Given the description of an element on the screen output the (x, y) to click on. 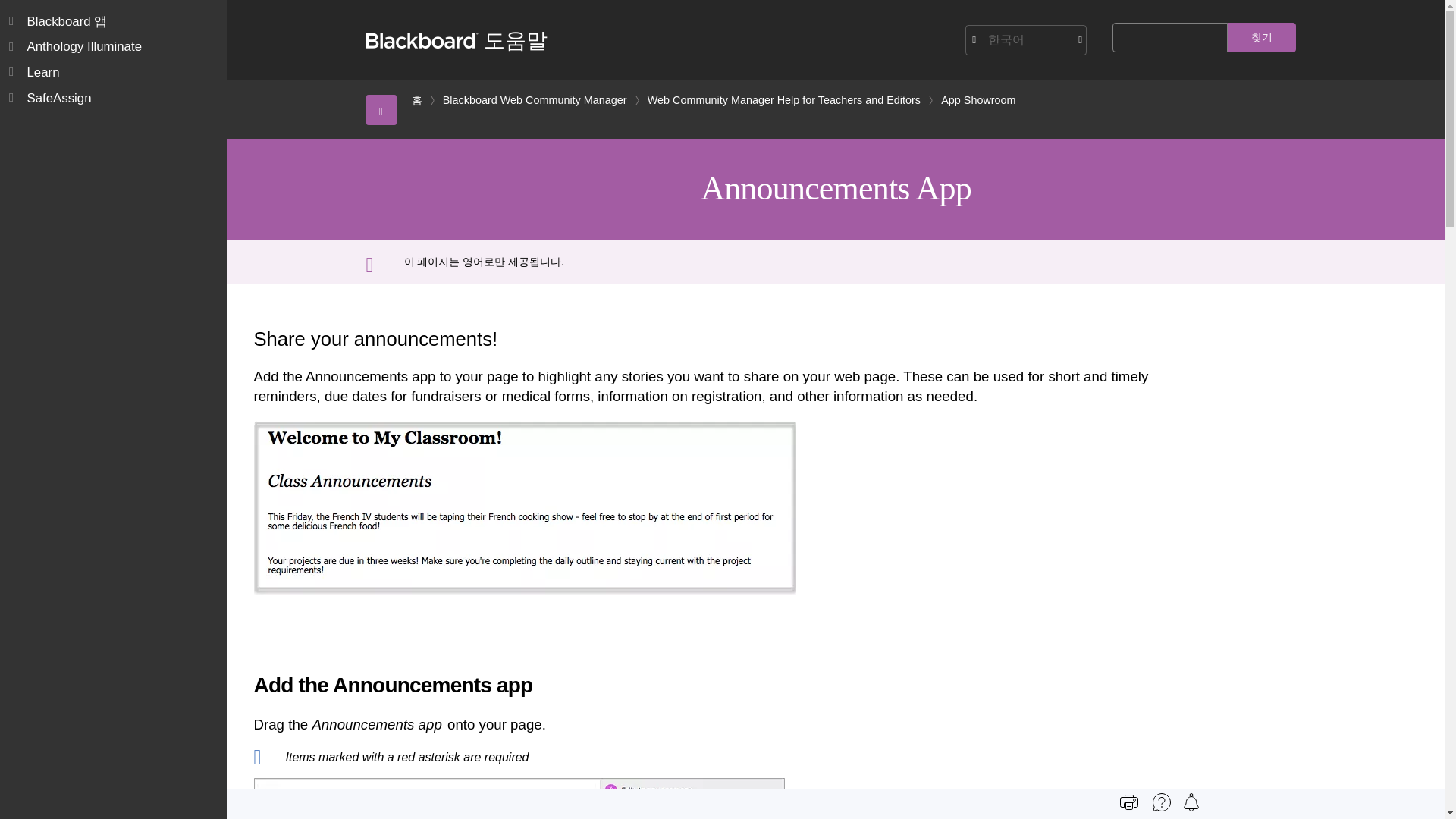
App Showroom (977, 99)
Blackboard Web Community Manager (534, 99)
Web Community Manager Help for Teachers and Editors (783, 99)
